Given the description of an element on the screen output the (x, y) to click on. 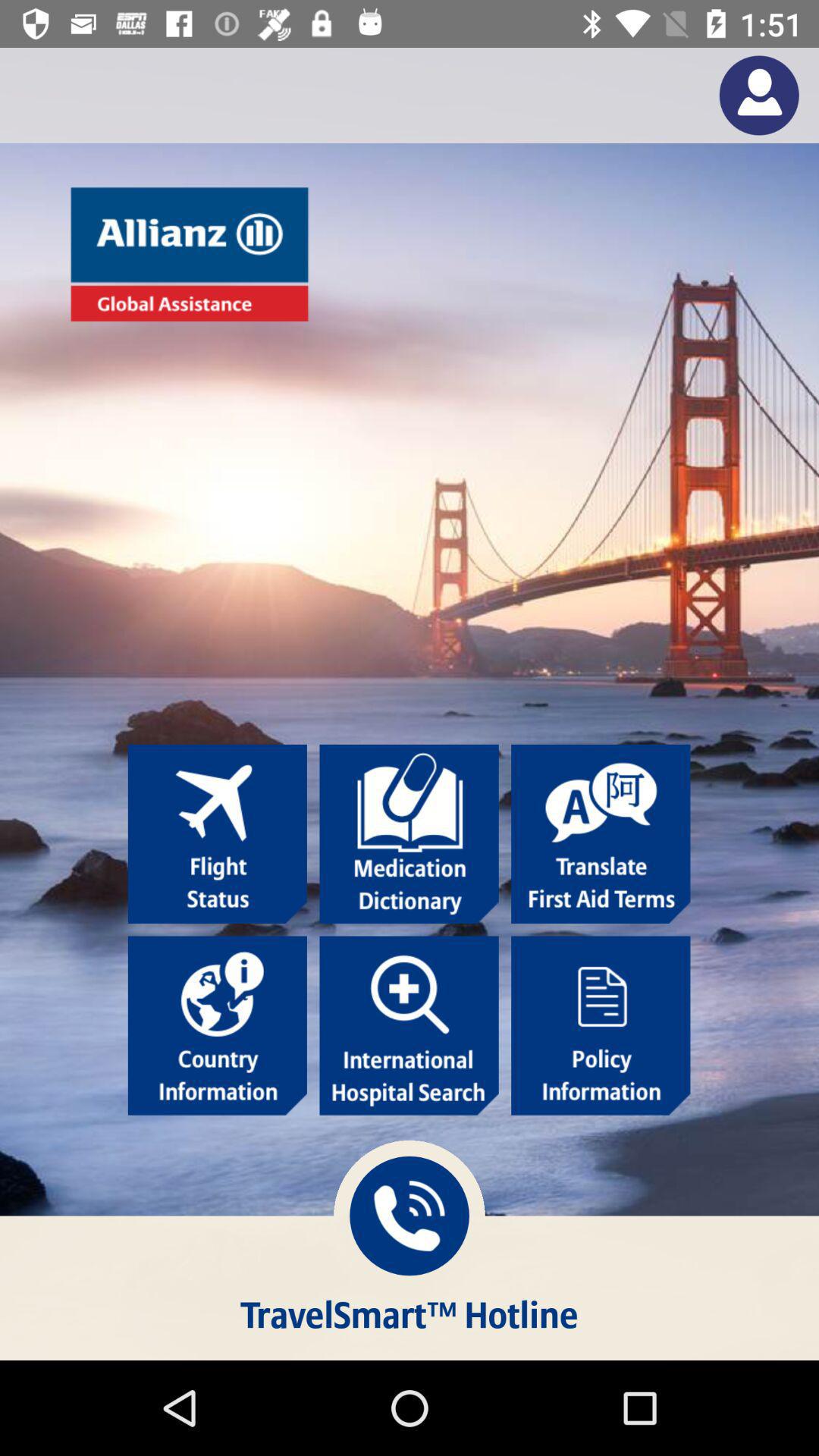
select flight status (217, 833)
